Given the description of an element on the screen output the (x, y) to click on. 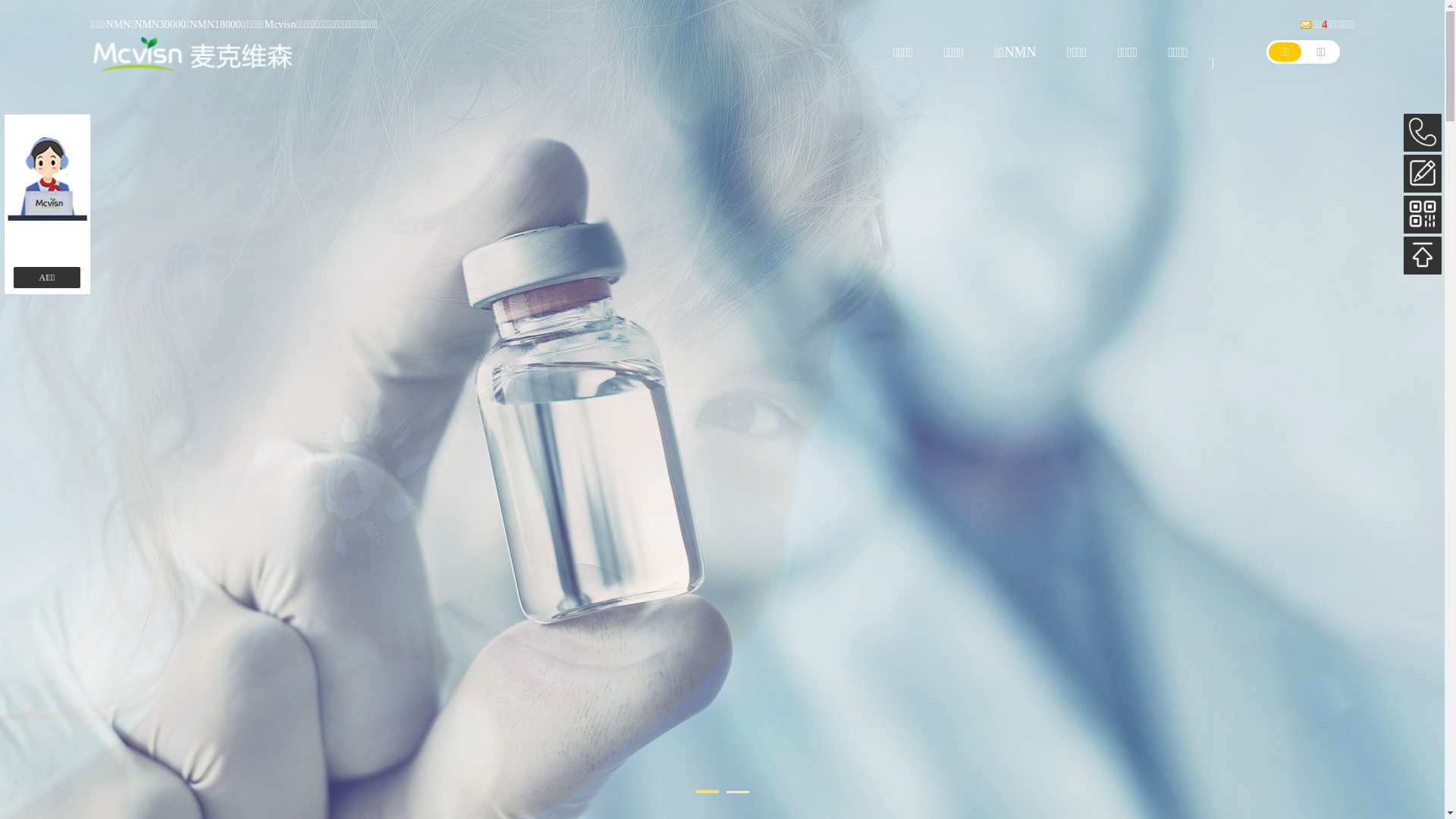
NMN Element type: text (118, 24)
